Given the description of an element on the screen output the (x, y) to click on. 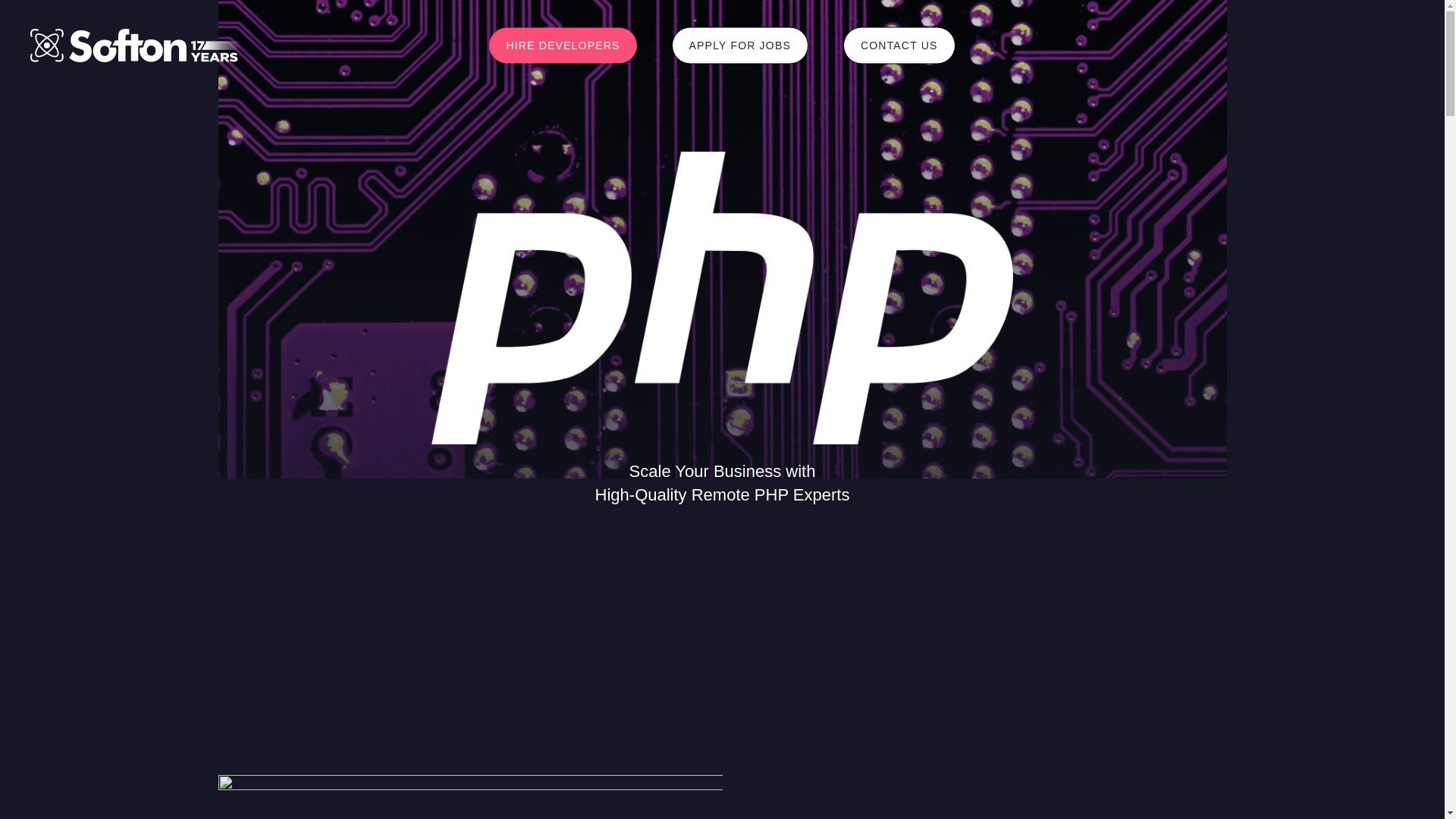
HIRE DEVELOPERS (562, 45)
APPLY FOR JOBS (739, 45)
Group 192 (470, 796)
CONTACT US (898, 45)
